Given the description of an element on the screen output the (x, y) to click on. 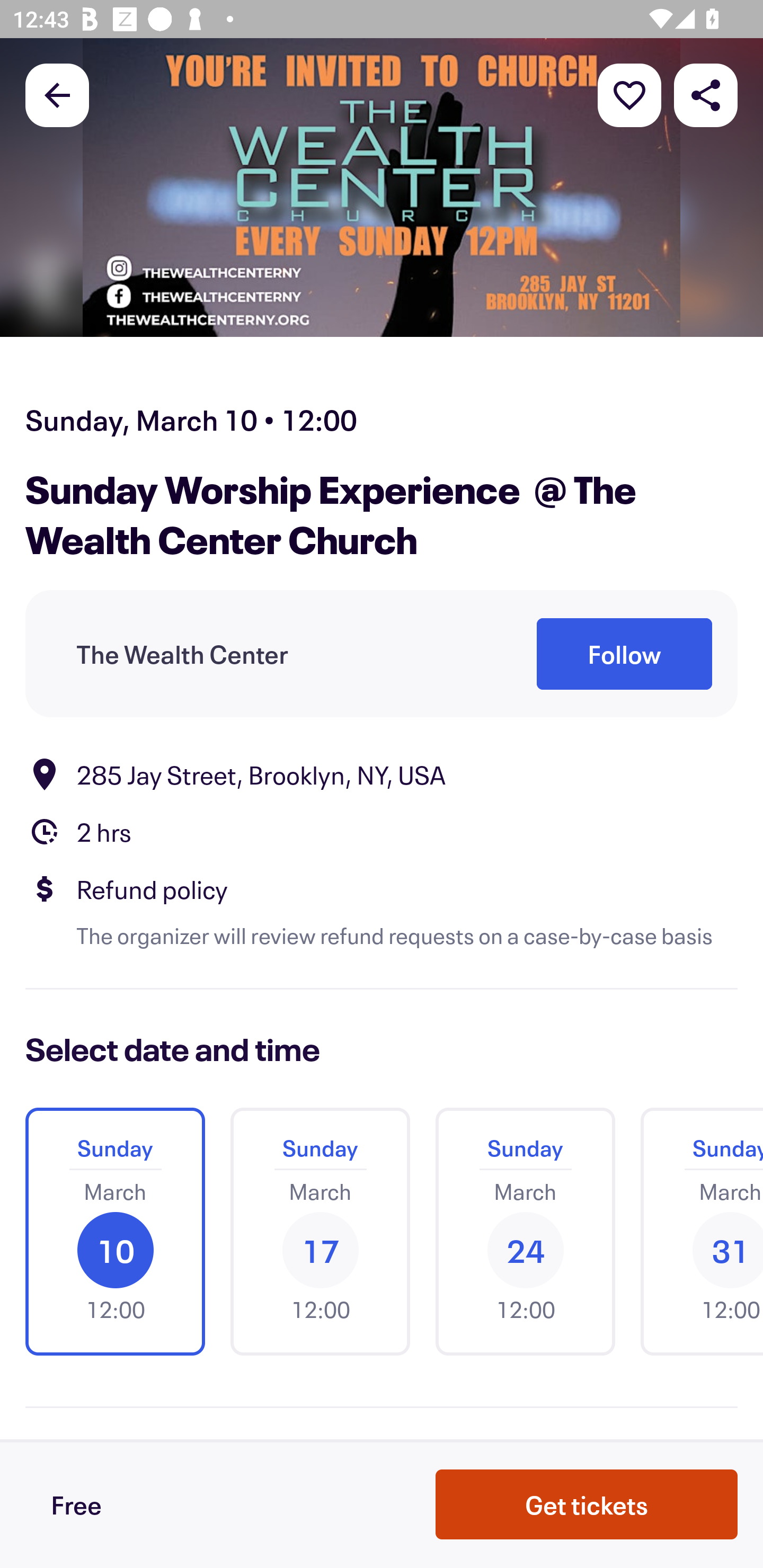
Back (57, 94)
More (629, 94)
Share (705, 94)
The Wealth Center (182, 654)
Follow (623, 654)
Location 285 Jay Street, Brooklyn, NY, USA (381, 774)
Sunday March 10 12:00 (114, 1231)
Sunday March 10 12:00 (114, 1231)
Sunday March 17 12:00 (319, 1231)
Sunday March 24 12:00 (524, 1231)
Sunday March 31 12:00 (695, 1231)
Get tickets (586, 1504)
